Given the description of an element on the screen output the (x, y) to click on. 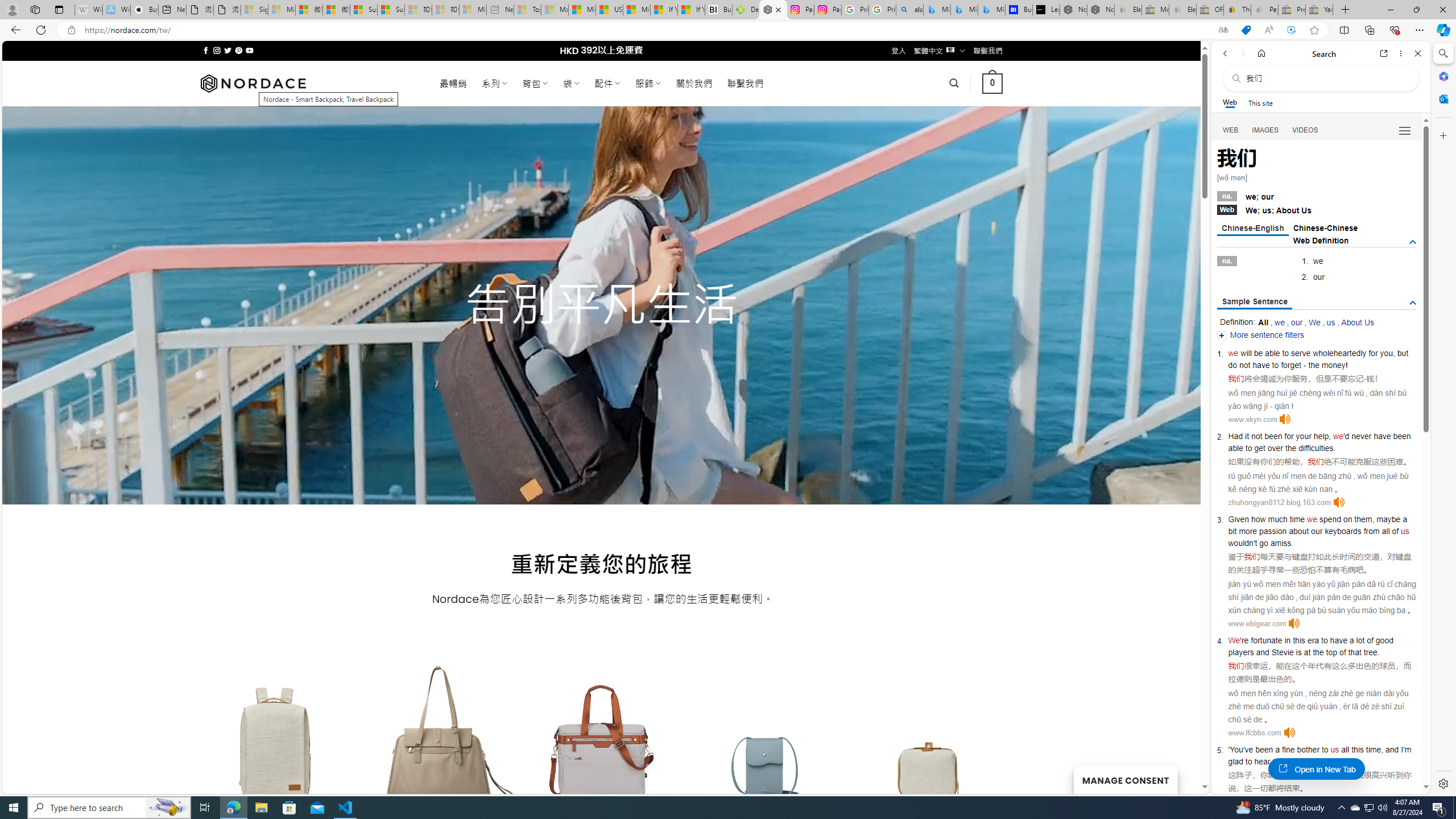
Press Room - eBay Inc. - Sleeping (1292, 9)
a (1277, 749)
difficulties (1315, 447)
MANAGE CONSENT (1125, 779)
I (1401, 749)
bother (1308, 749)
